Given the description of an element on the screen output the (x, y) to click on. 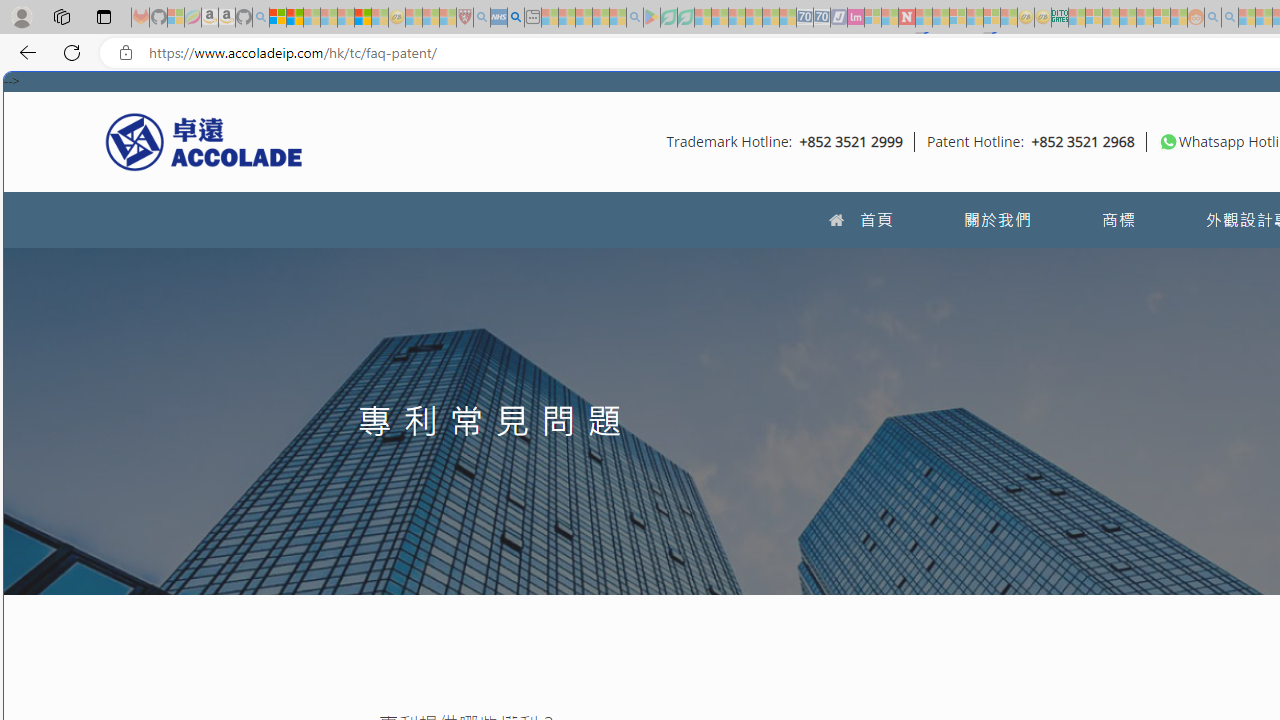
Accolade IP HK Logo (203, 141)
